Given the description of an element on the screen output the (x, y) to click on. 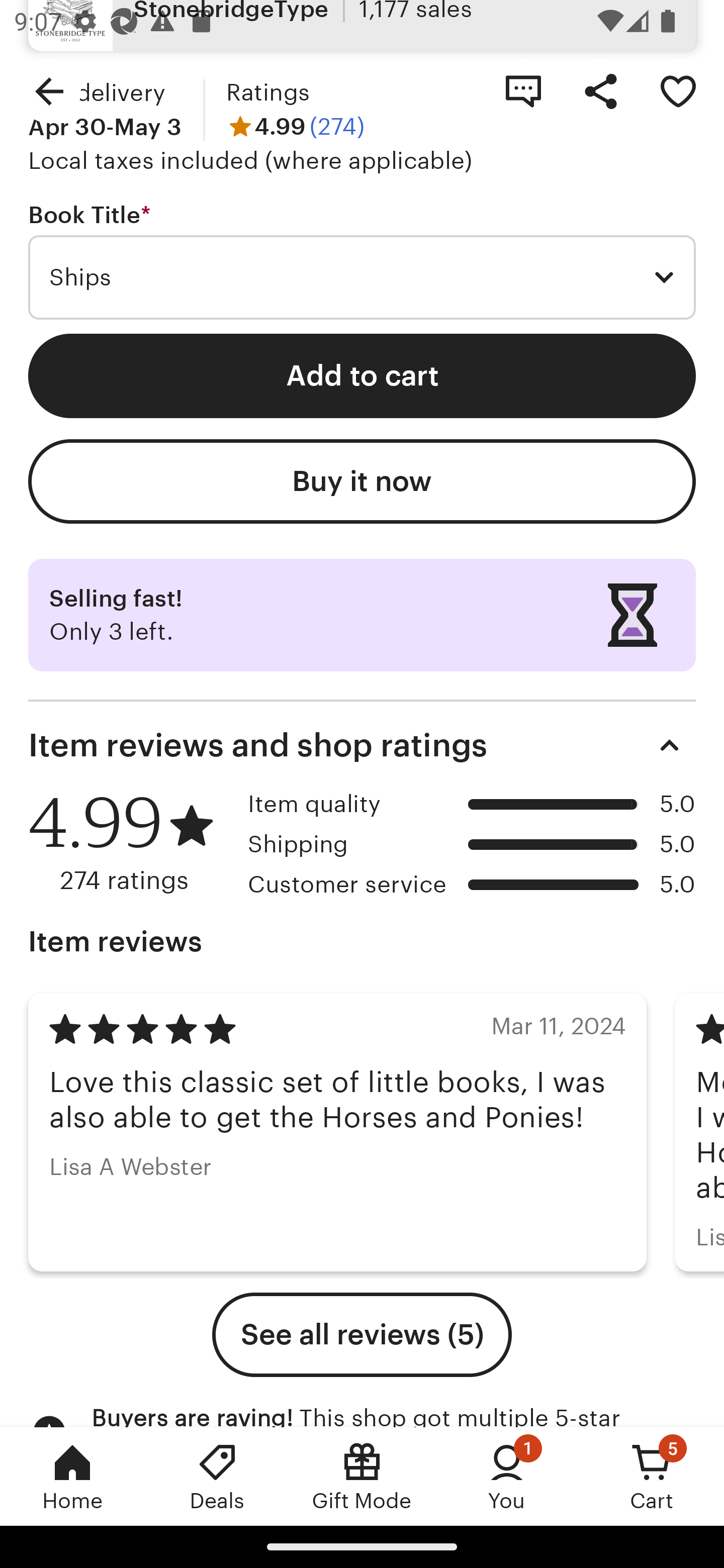
Navigate up (49, 90)
Contact shop (523, 90)
Share (600, 90)
Ratings (267, 92)
4.99 (274) (294, 126)
Book Title * Required Ships (361, 260)
Ships (361, 277)
Add to cart (361, 375)
Buy it now (361, 481)
Item reviews and shop ratings (362, 744)
4.99 274 ratings (130, 842)
See all reviews (5) (361, 1334)
Deals (216, 1475)
Gift Mode (361, 1475)
You, 1 new notification You (506, 1475)
Cart, 5 new notifications Cart (651, 1475)
